Given the description of an element on the screen output the (x, y) to click on. 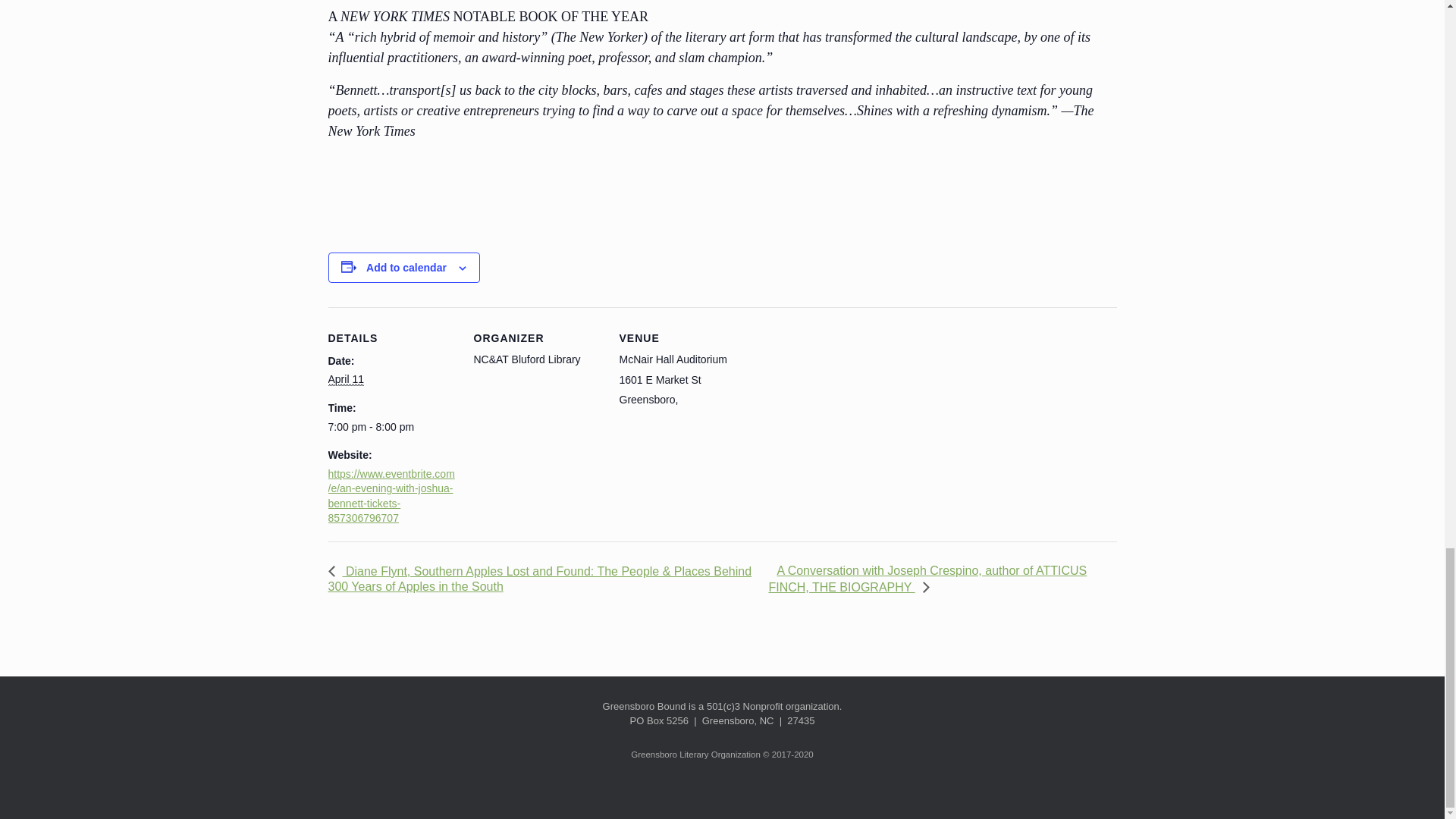
2024-04-11 (344, 379)
2024-04-11 (390, 427)
